Given the description of an element on the screen output the (x, y) to click on. 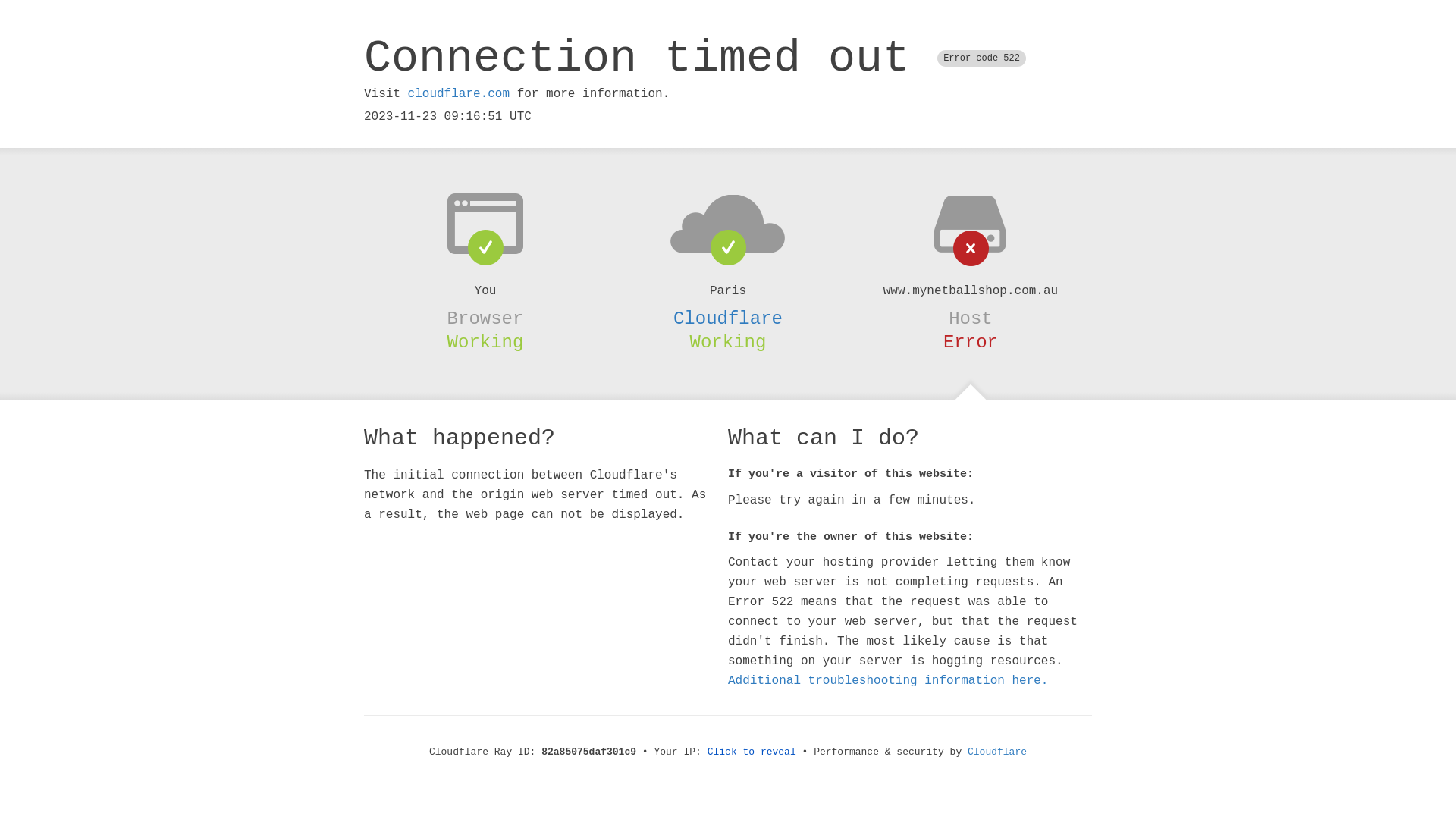
Click to reveal Element type: text (751, 751)
Cloudflare Element type: text (996, 751)
cloudflare.com Element type: text (458, 93)
Cloudflare Element type: text (727, 318)
Additional troubleshooting information here. Element type: text (888, 680)
